Given the description of an element on the screen output the (x, y) to click on. 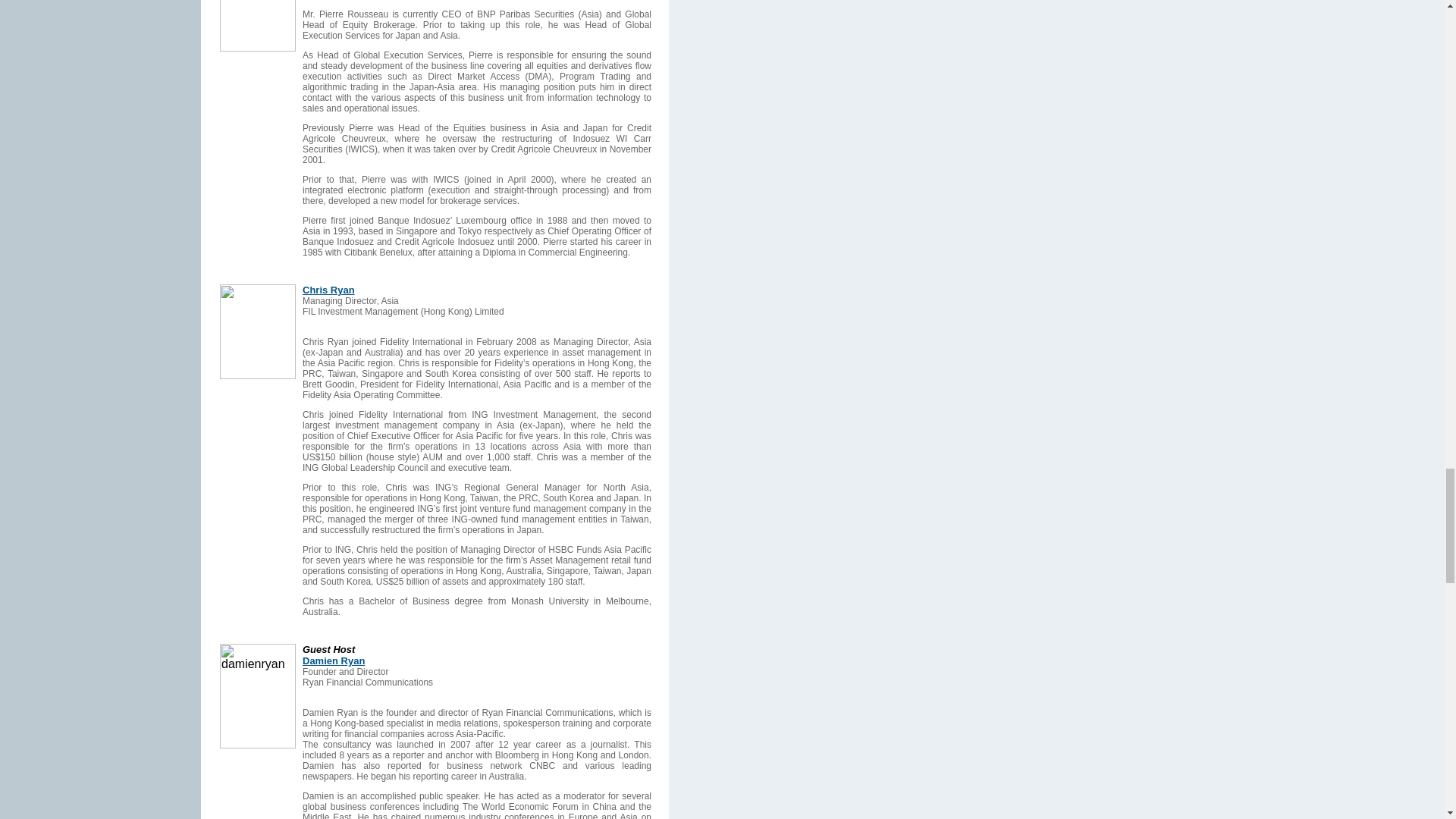
Damien Ryan (333, 666)
Chris Ryan (328, 289)
